Given the description of an element on the screen output the (x, y) to click on. 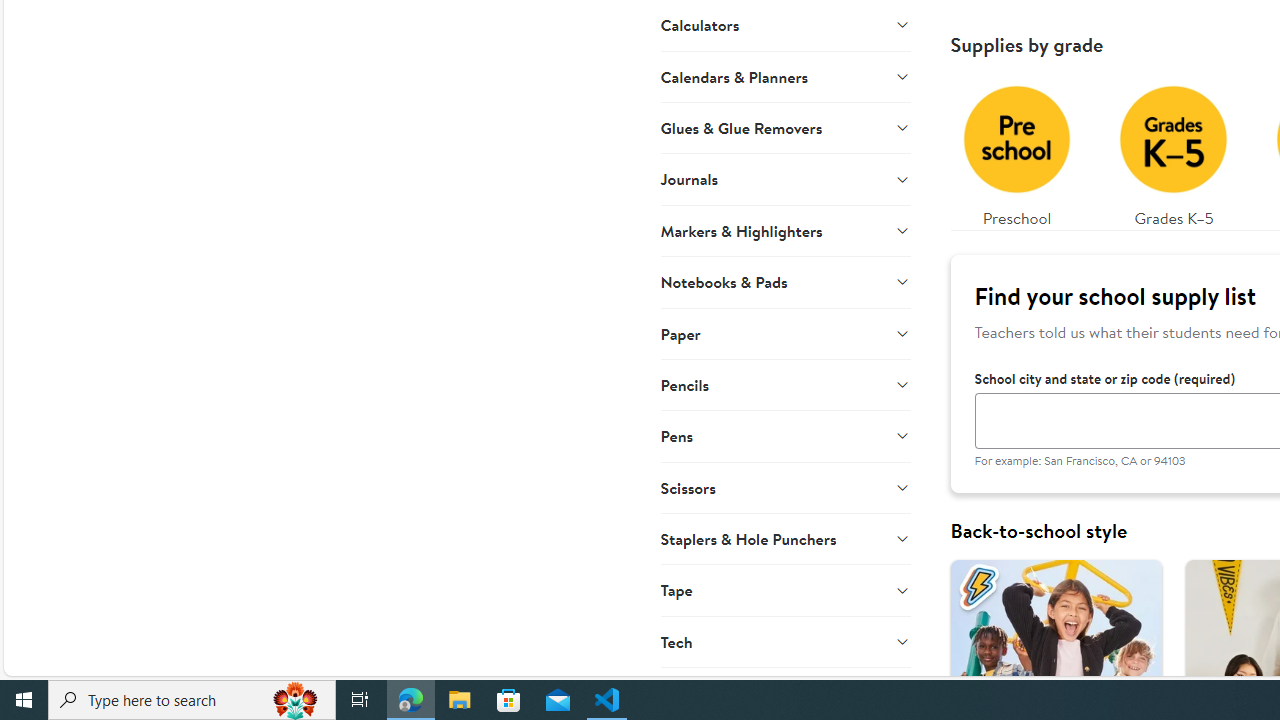
Notebooks & Pads (785, 282)
Tape (785, 589)
Staplers & Hole Punchers (785, 538)
Paper (785, 332)
Calendars & Planners (785, 75)
Pencils (785, 384)
Scissors (785, 487)
